Given the description of an element on the screen output the (x, y) to click on. 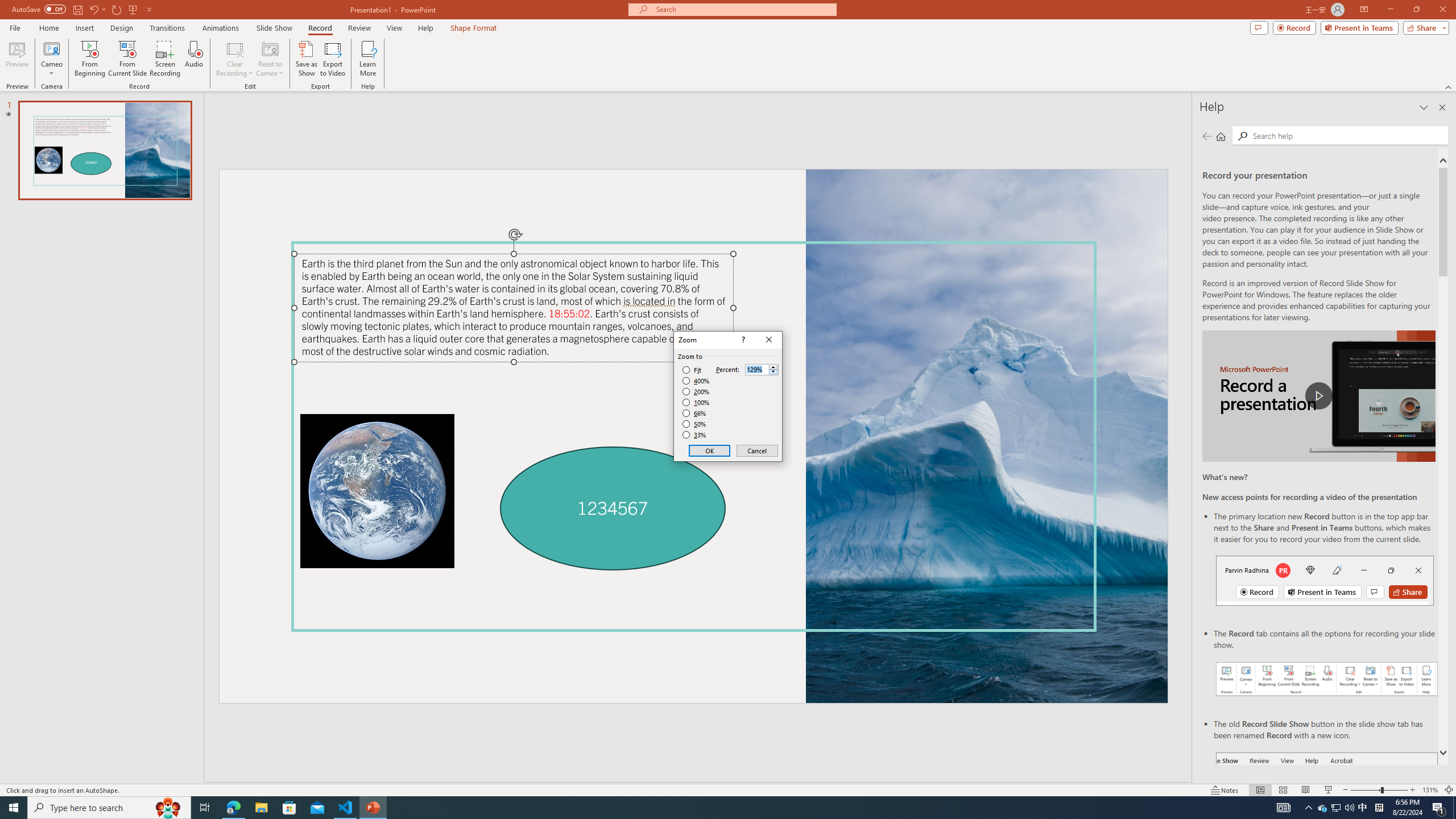
Percent (761, 369)
